Given the description of an element on the screen output the (x, y) to click on. 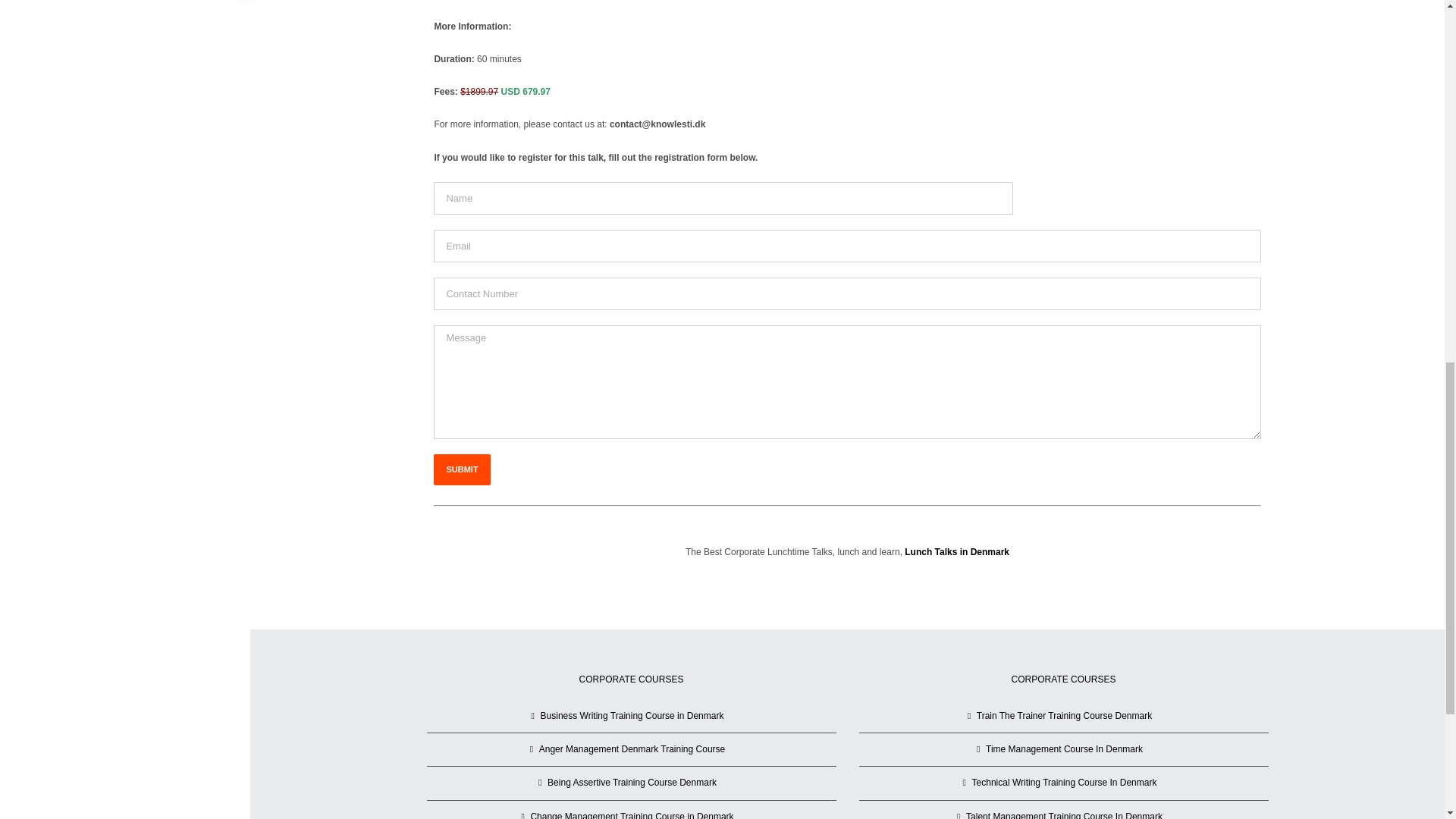
Being Assertive Training Course Denmark (631, 782)
Change Management Training Course in Denmark (631, 813)
Business Writing Training Course in Denmark (631, 715)
Talent Management Training Course In Denmark (1063, 813)
Time Management Course In Denmark (1063, 749)
Lunch Talks in Denmark (956, 552)
submit (461, 469)
Train The Trainer Training Course Denmark (1063, 715)
submit (461, 469)
Anger Management Denmark Training Course (631, 749)
